Given the description of an element on the screen output the (x, y) to click on. 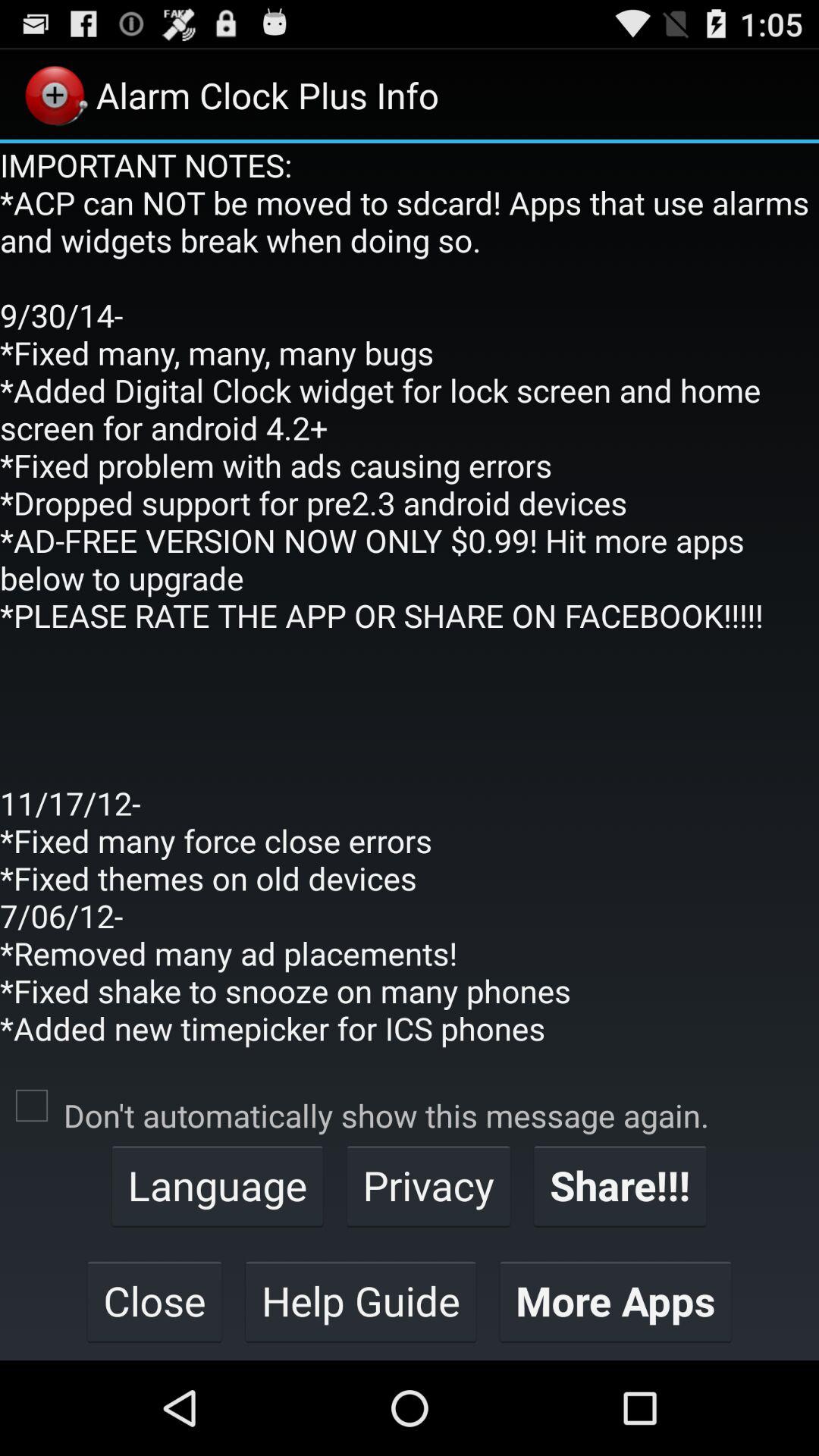
scroll to the more apps icon (615, 1300)
